Given the description of an element on the screen output the (x, y) to click on. 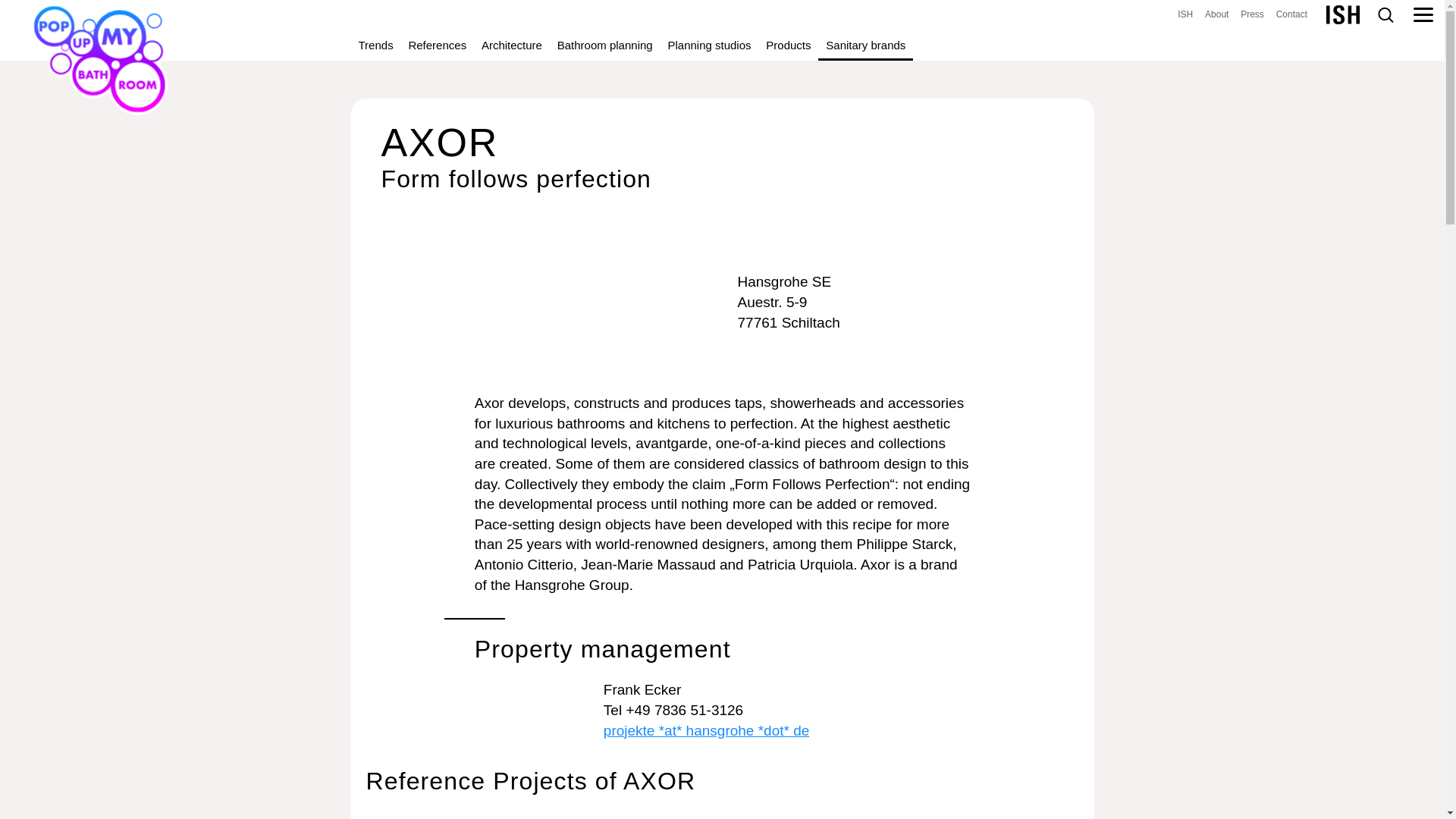
Trends (375, 45)
References (437, 45)
Bathroom planning (605, 45)
Products (788, 45)
Planning studios (708, 45)
Pop up my Atelier (1185, 15)
Search (1385, 15)
Sanitary brands (865, 45)
Architecture (512, 45)
